Given the description of an element on the screen output the (x, y) to click on. 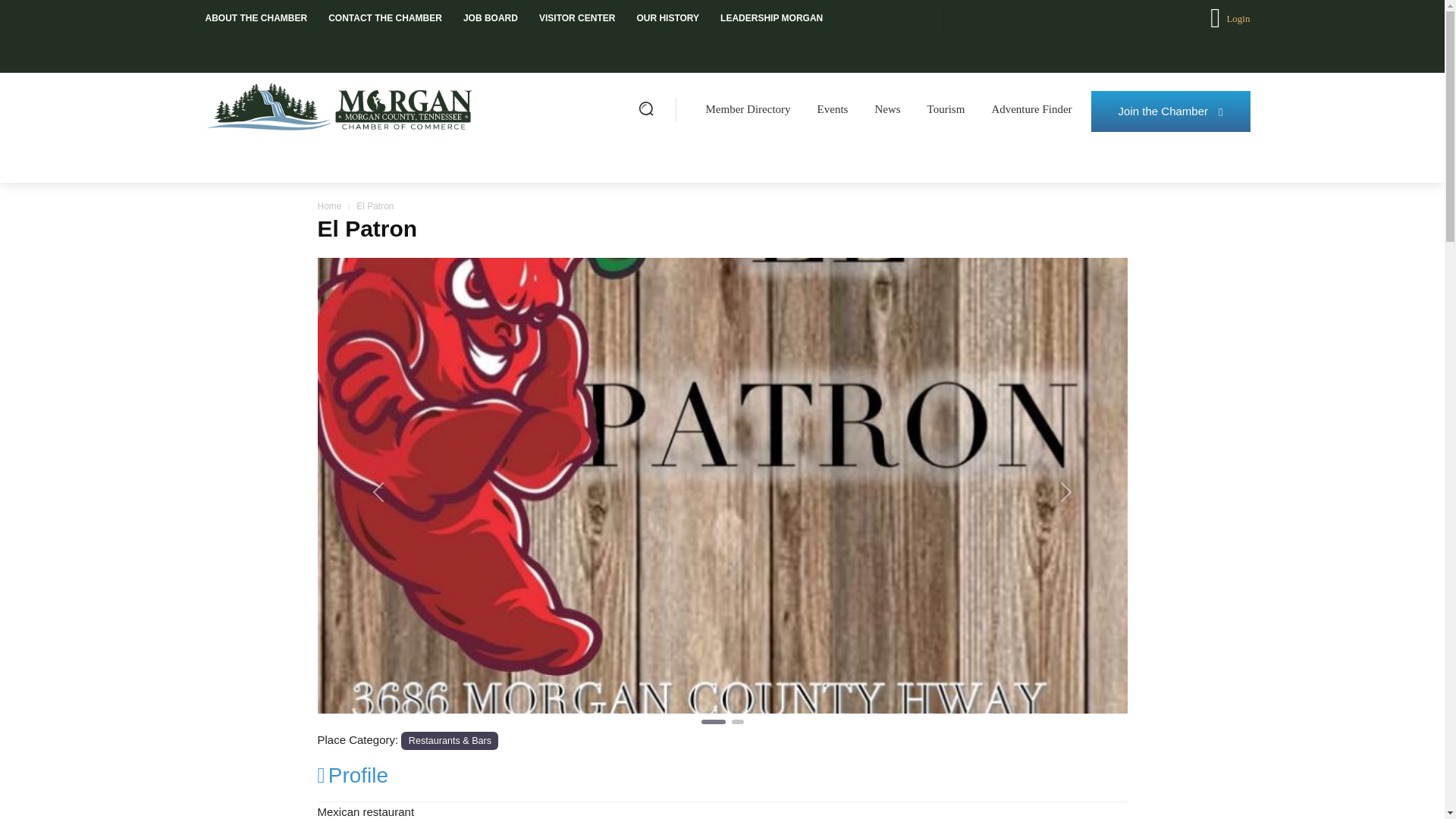
JOB BOARD (490, 18)
Tourism (946, 108)
LEADERSHIP MORGAN (771, 18)
News (887, 108)
ABOUT THE CHAMBER (255, 18)
Join the Chamber (1170, 110)
CONTACT THE CHAMBER (384, 18)
OUR HISTORY (668, 18)
Events (832, 108)
Member Directory (747, 108)
Login (1229, 17)
VISITOR CENTER (577, 18)
